Given the description of an element on the screen output the (x, y) to click on. 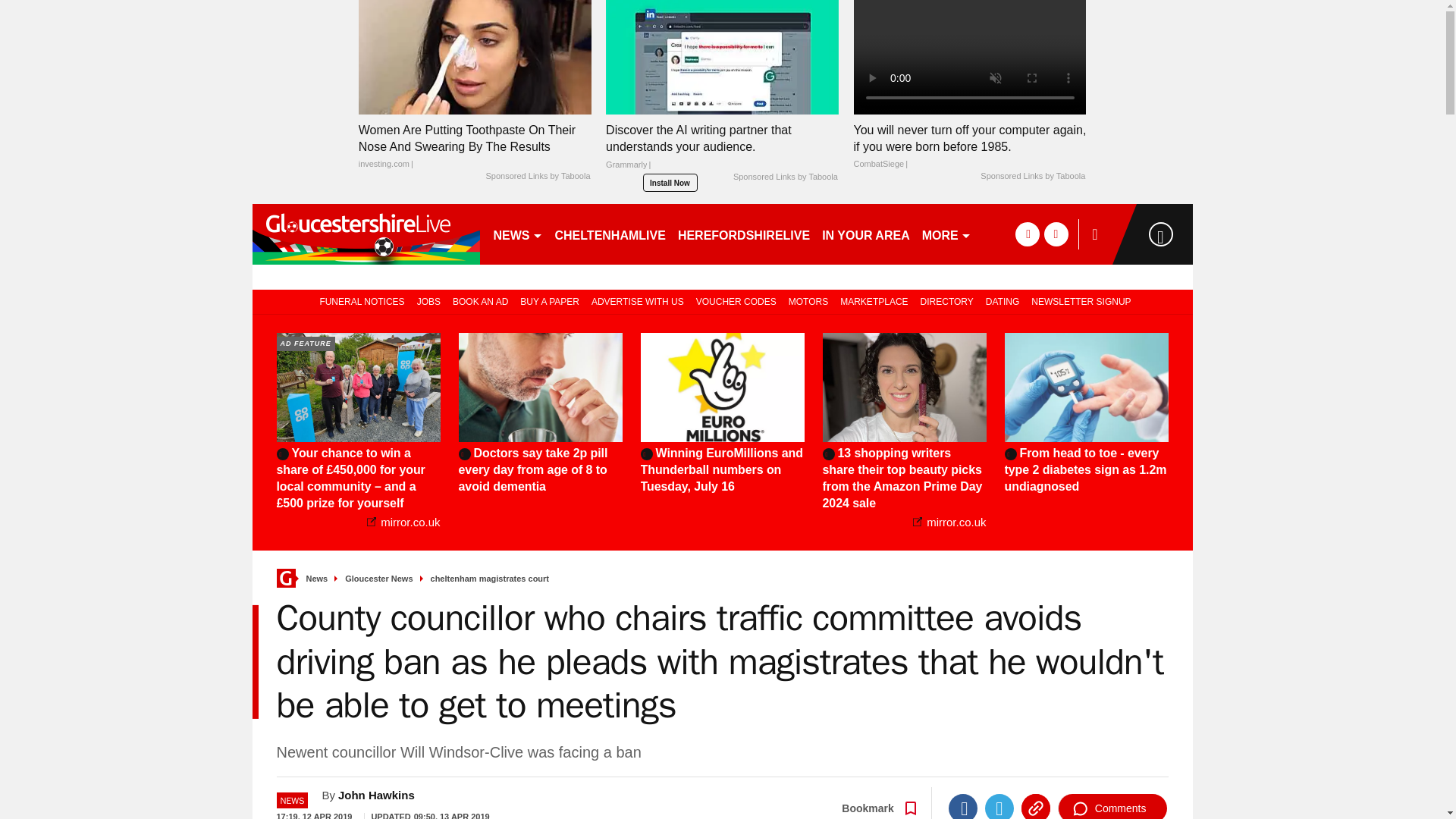
IN YOUR AREA (865, 233)
Facebook (962, 806)
twitter (1055, 233)
Sponsored Links by Taboola (1031, 176)
Install Now (670, 182)
Twitter (999, 806)
MORE (945, 233)
Comments (1112, 806)
gloucestershirelive (365, 233)
CHELTENHAMLIVE (609, 233)
